Given the description of an element on the screen output the (x, y) to click on. 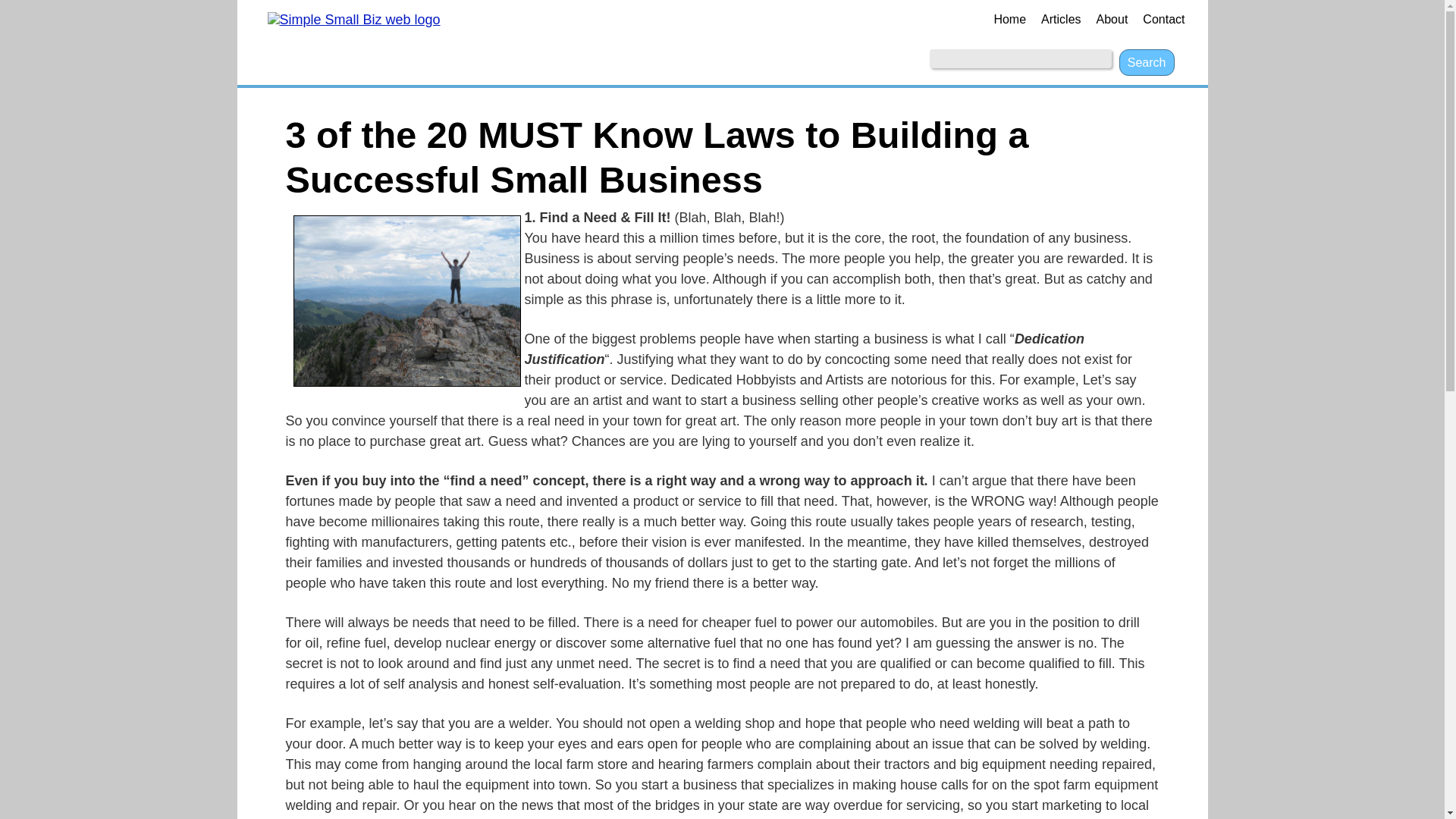
Search (1146, 62)
Contact (1163, 19)
About (1112, 19)
climber on top 1 (405, 300)
Articles (1060, 19)
Home (1009, 19)
